Given the description of an element on the screen output the (x, y) to click on. 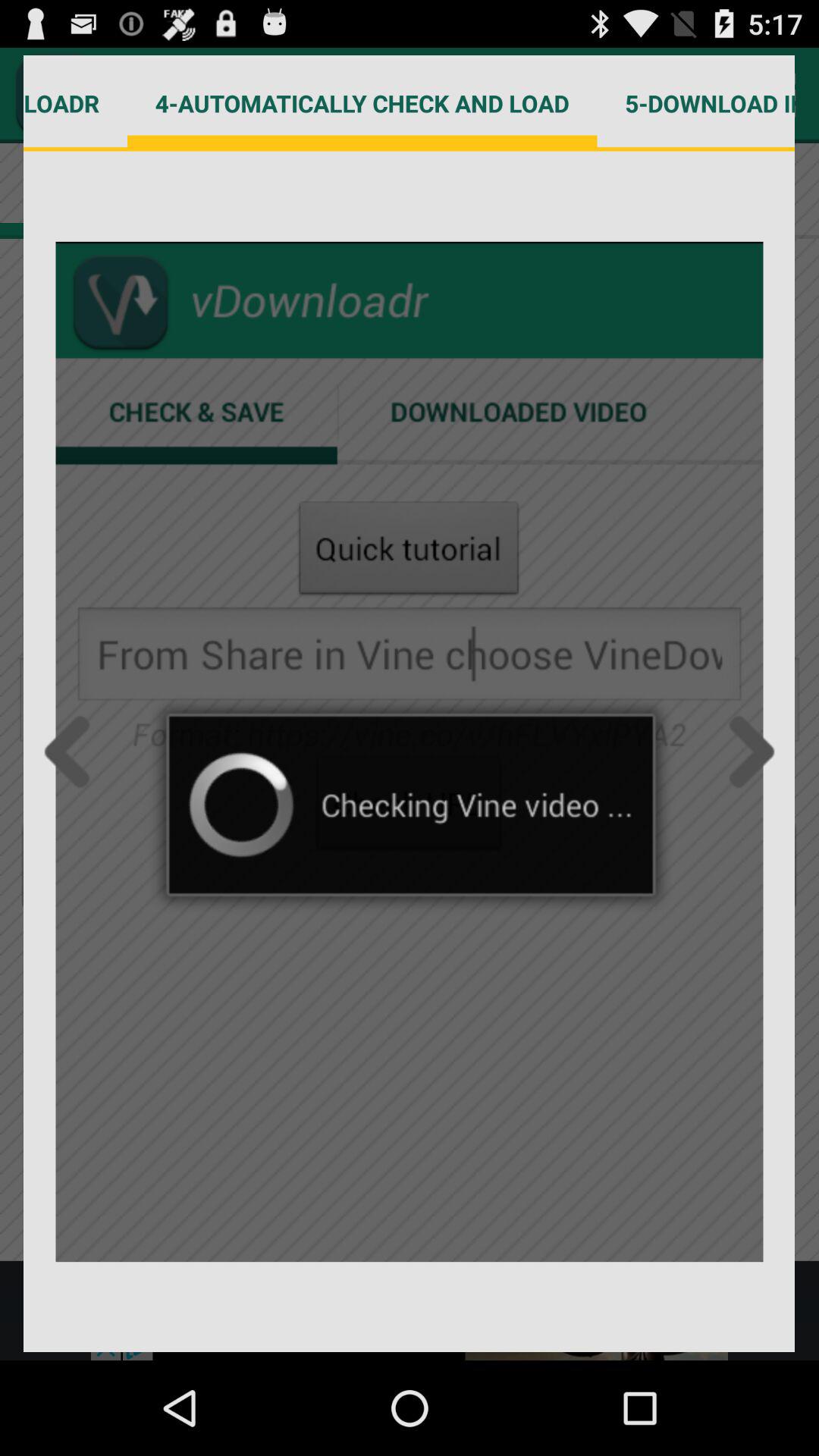
jump to 4 automatically check icon (362, 103)
